Given the description of an element on the screen output the (x, y) to click on. 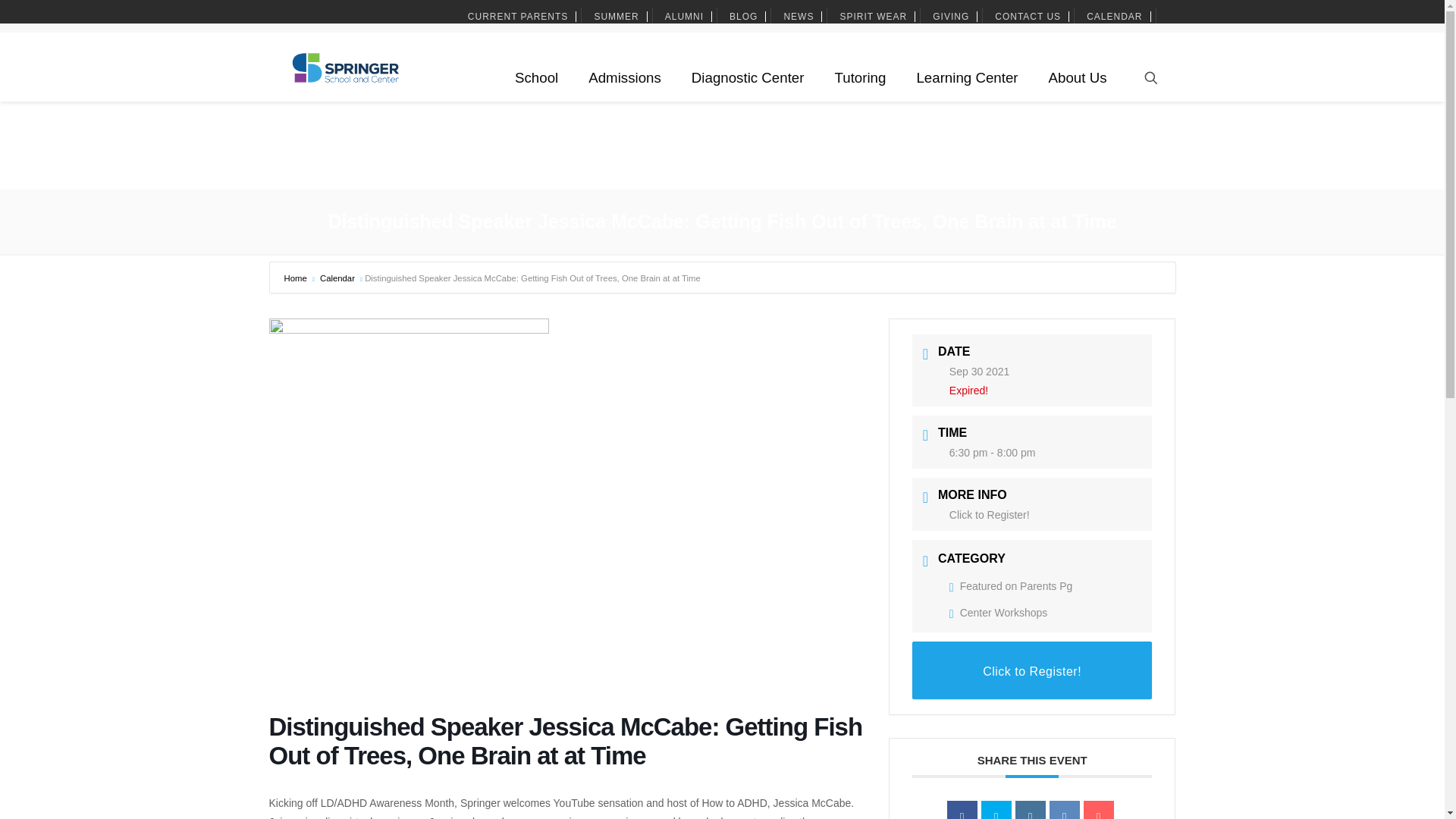
Share on Facebook (961, 809)
CONTACT US (1029, 16)
NEWS (800, 16)
School (536, 77)
Admissions (625, 77)
GIVING (952, 16)
CALENDAR (1115, 16)
SUMMER (617, 16)
SPIRIT WEAR (874, 16)
Tweet (996, 809)
